Given the description of an element on the screen output the (x, y) to click on. 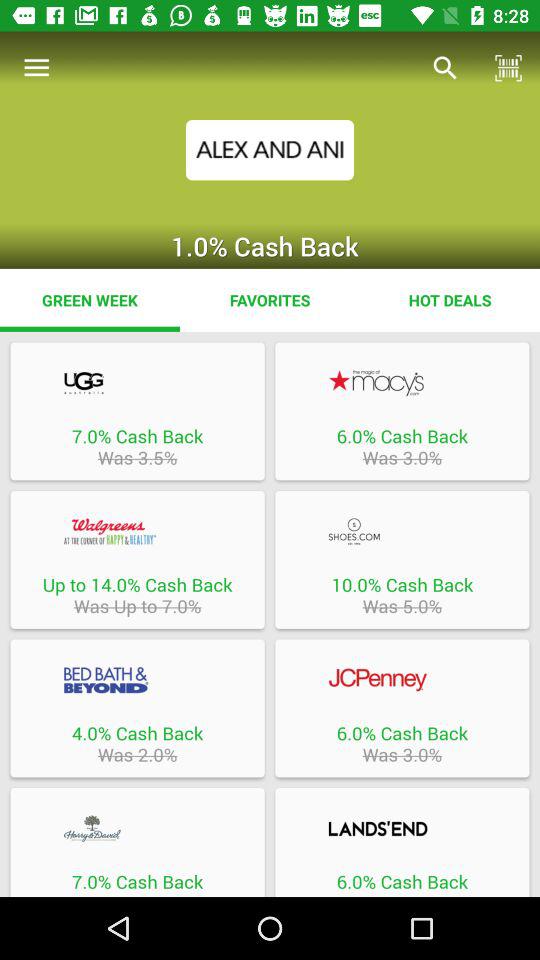
open new page (137, 679)
